Given the description of an element on the screen output the (x, y) to click on. 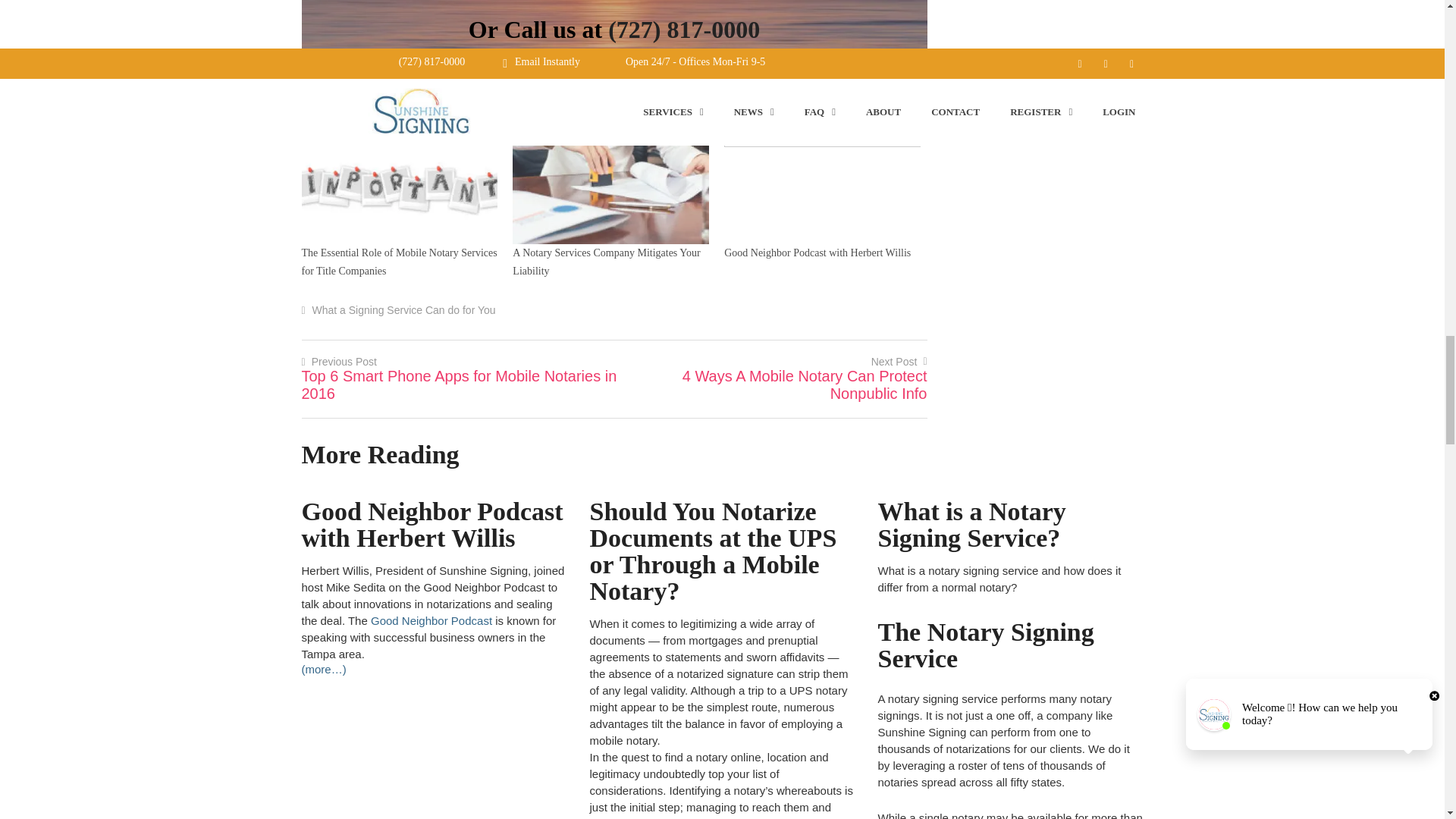
A Notary Services Company Mitigates Your Liability (610, 187)
Good Neighbor Podcast with Herbert Willis (821, 187)
Good Neighbor Podcast with Herbert Willis (817, 252)
A Notary Services Company Mitigates Your Liability (606, 261)
